Given the description of an element on the screen output the (x, y) to click on. 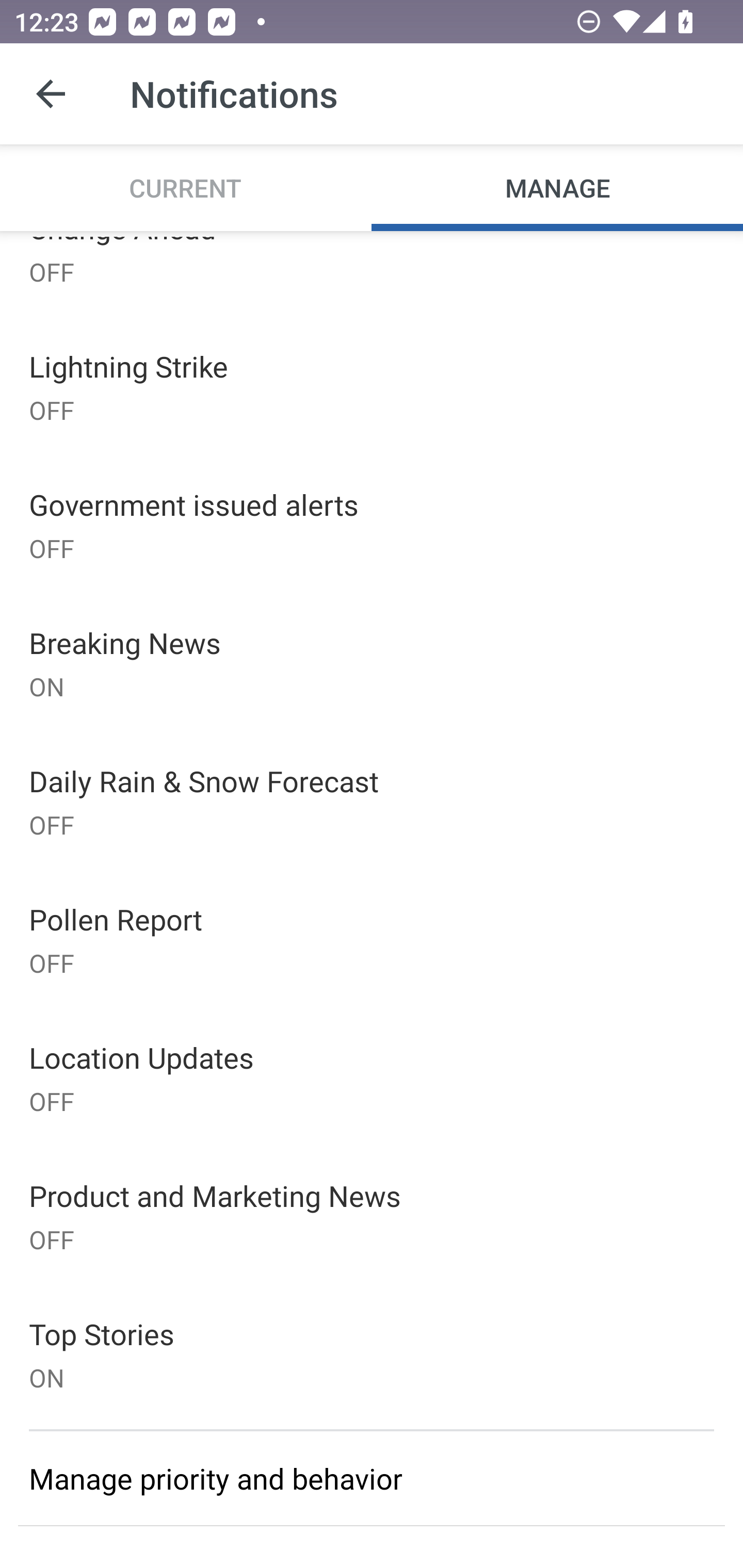
Navigate up (50, 93)
Current Tab CURRENT (185, 187)
Change Ahead OFF (371, 274)
Lightning Strike OFF (371, 387)
Government issued alerts OFF (371, 525)
Breaking News ON (371, 663)
Daily Rain & Snow Forecast OFF (371, 801)
Pollen Report OFF (371, 939)
Location Updates OFF (371, 1077)
Product and Marketing News OFF (371, 1216)
Top Stories ON (371, 1354)
Manage priority and behavior (371, 1478)
